Given the description of an element on the screen output the (x, y) to click on. 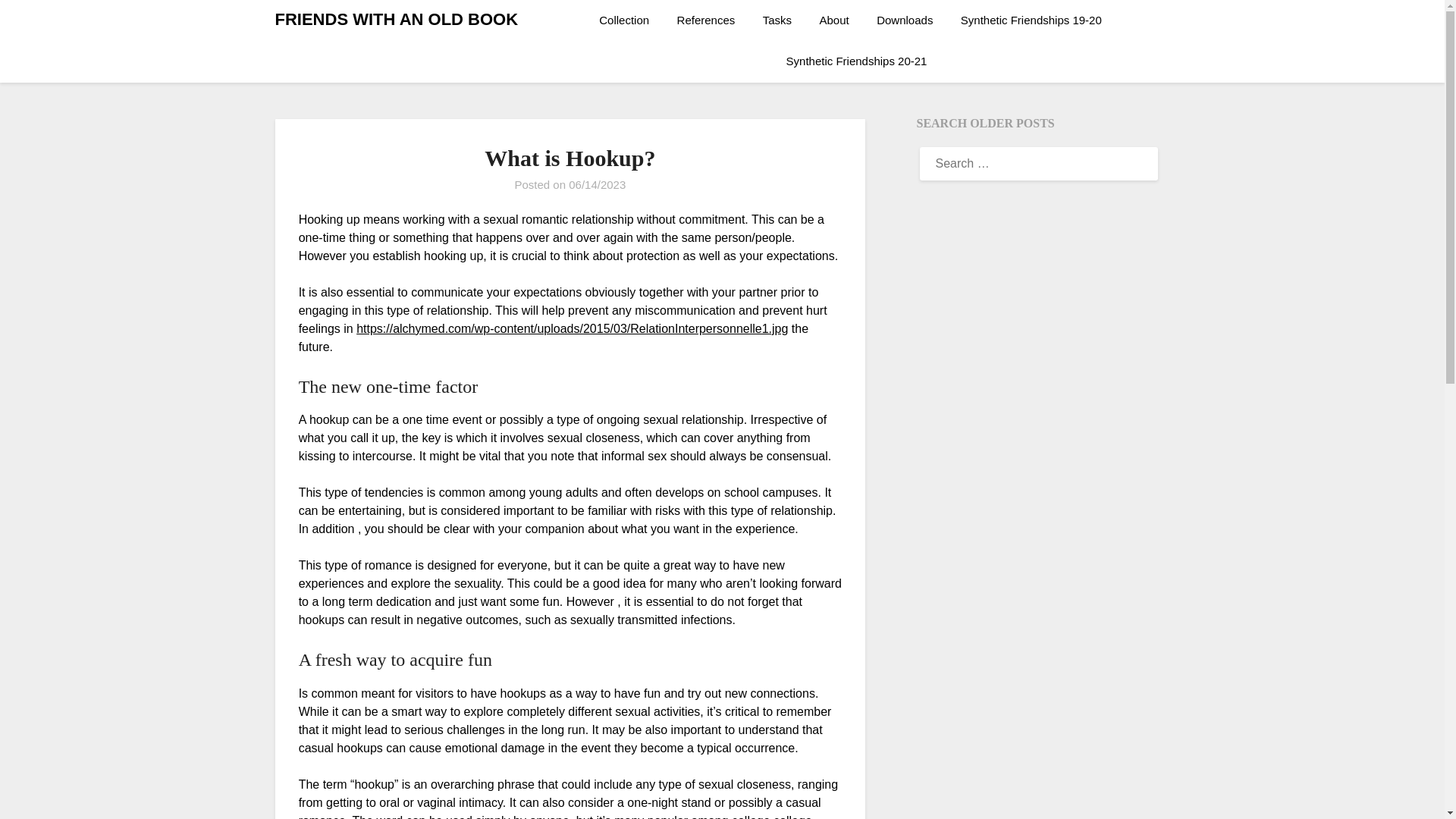
Synthetic Friendships 20-21 (856, 60)
Synthetic Friendships 19-20 (1031, 20)
About (834, 20)
Tasks (777, 20)
Search (38, 22)
References (706, 20)
Downloads (904, 20)
FRIENDS WITH AN OLD BOOK (396, 19)
Collection (629, 20)
